Given the description of an element on the screen output the (x, y) to click on. 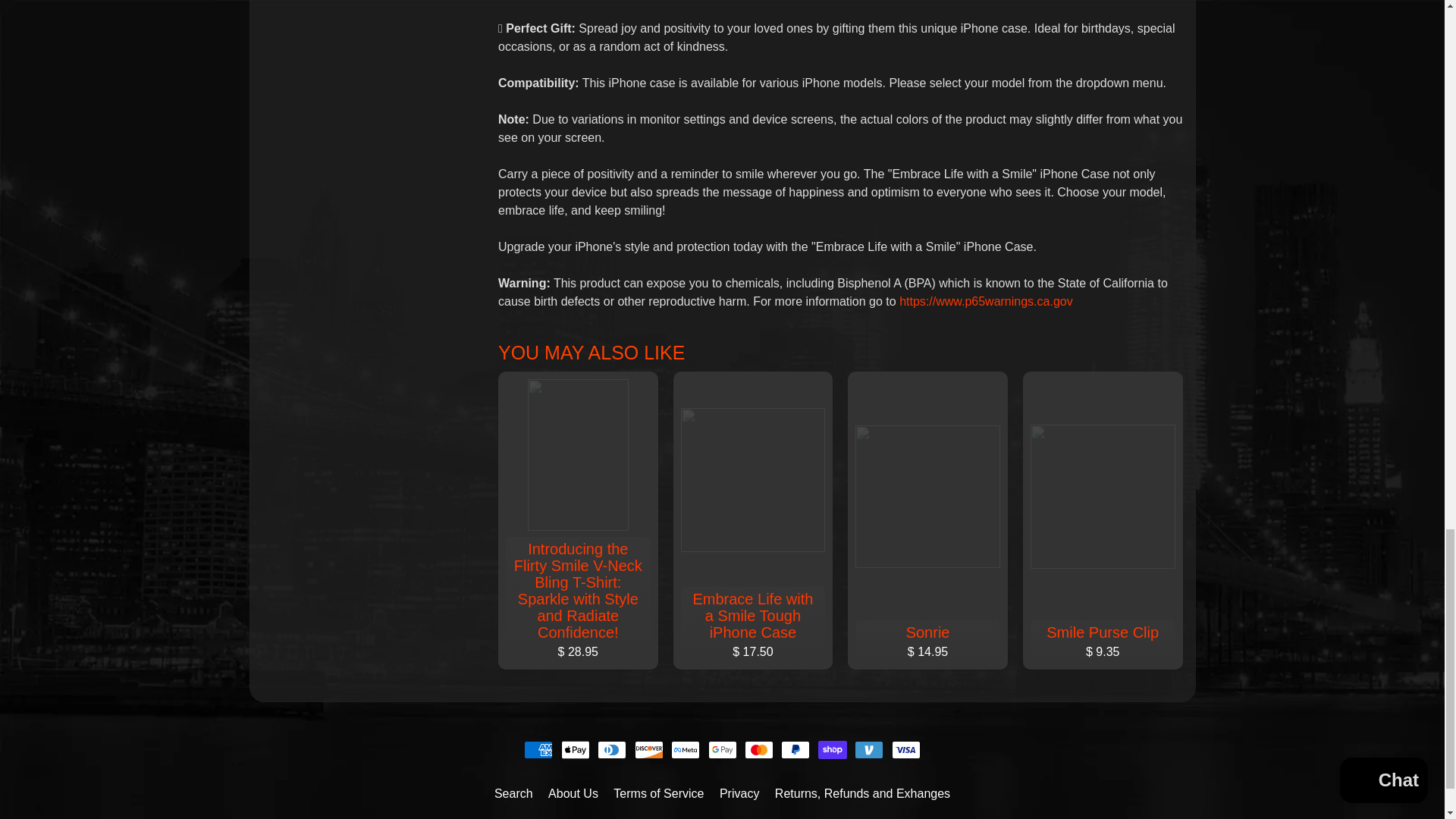
Apple Pay (574, 750)
Mastercard (758, 750)
American Express (538, 750)
Google Pay (721, 750)
Discover (648, 750)
Diners Club (611, 750)
Meta Pay (685, 750)
Venmo (868, 750)
Shop Pay (832, 750)
PayPal (794, 750)
